Given the description of an element on the screen output the (x, y) to click on. 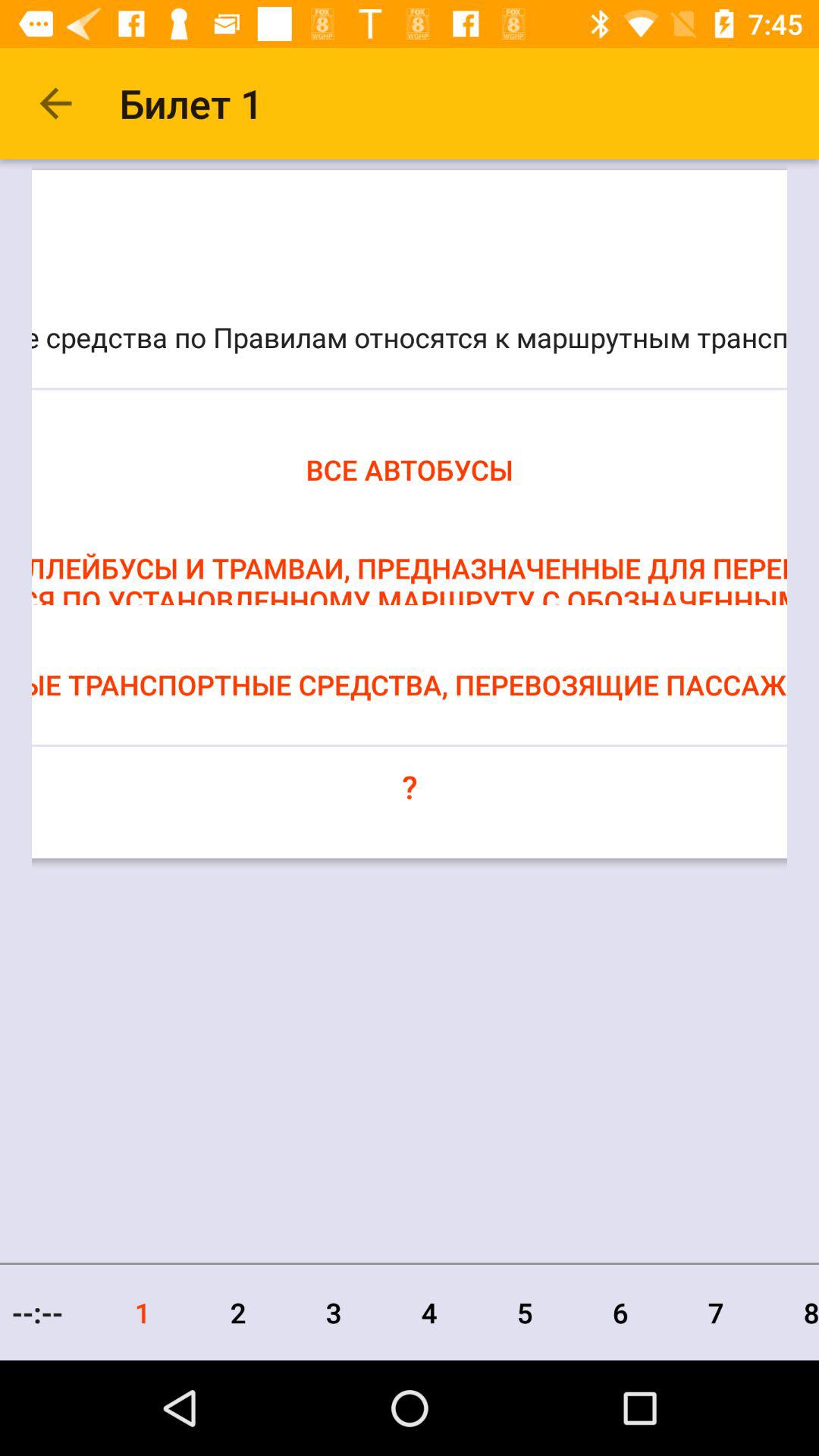
choose the icon next to 4 (333, 1312)
